Given the description of an element on the screen output the (x, y) to click on. 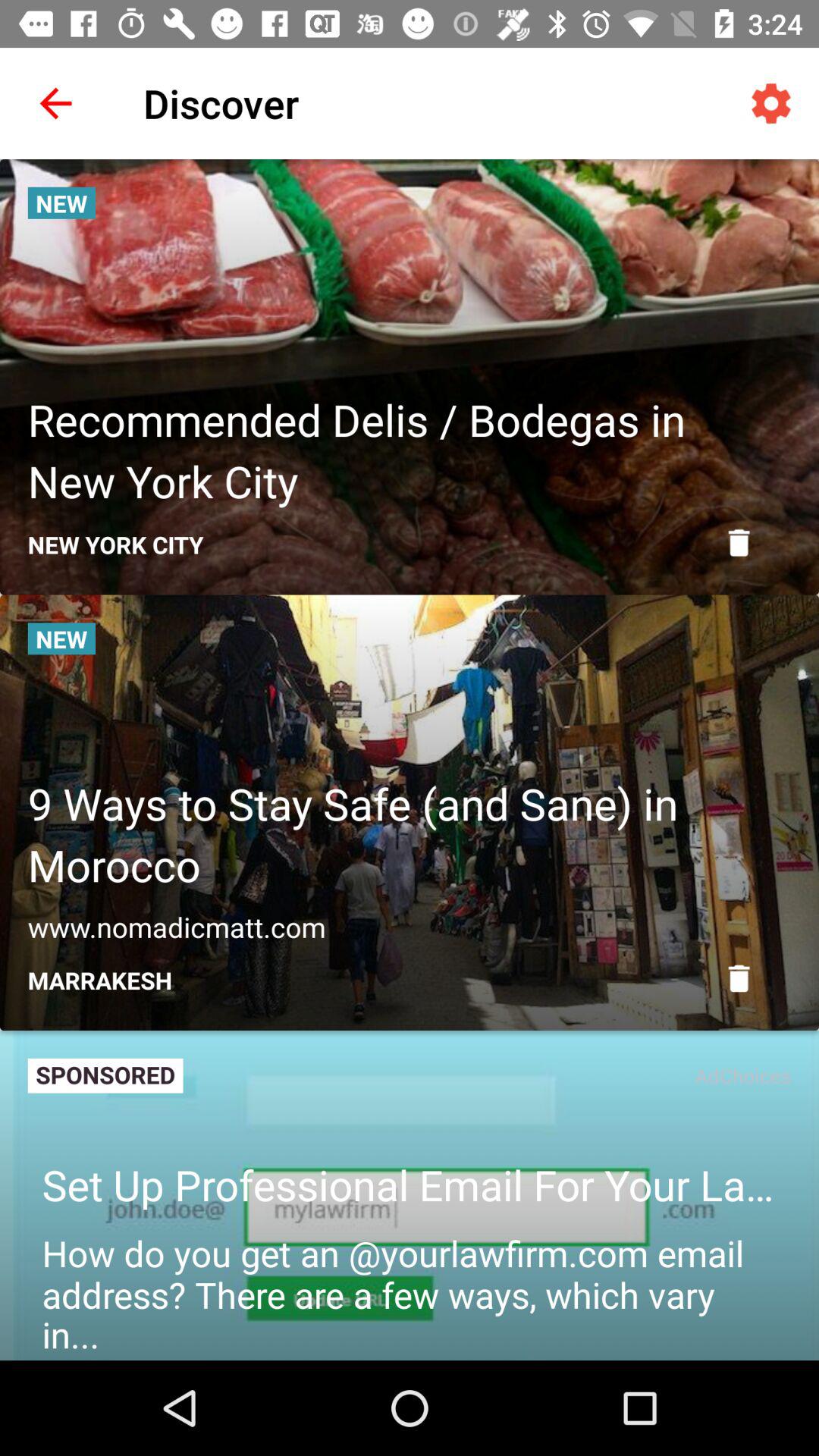
turn off item to the left of discover item (55, 103)
